Given the description of an element on the screen output the (x, y) to click on. 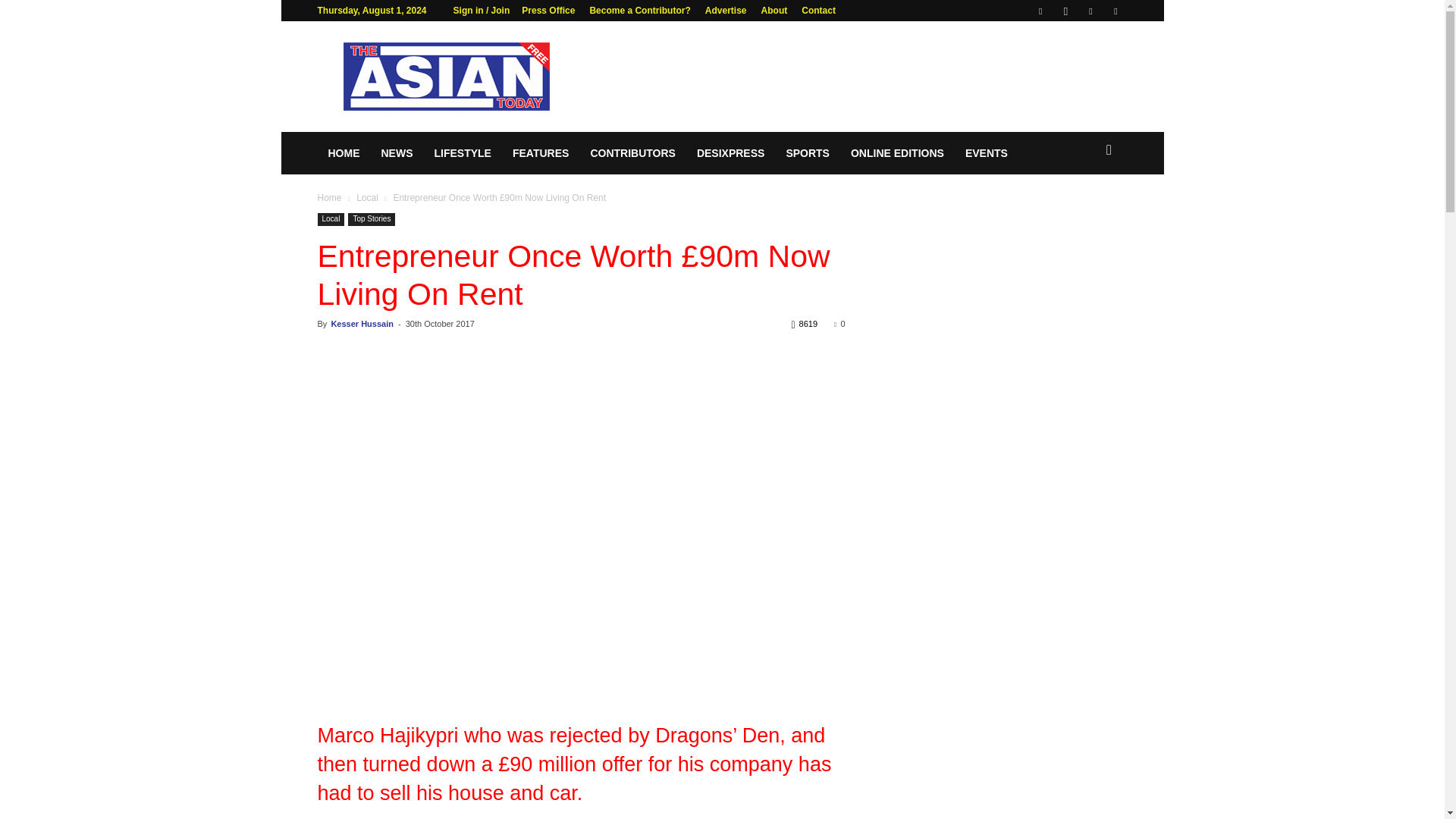
Youtube (1114, 10)
Instagram (1065, 10)
Facebook (1040, 10)
Twitter (1090, 10)
